Given the description of an element on the screen output the (x, y) to click on. 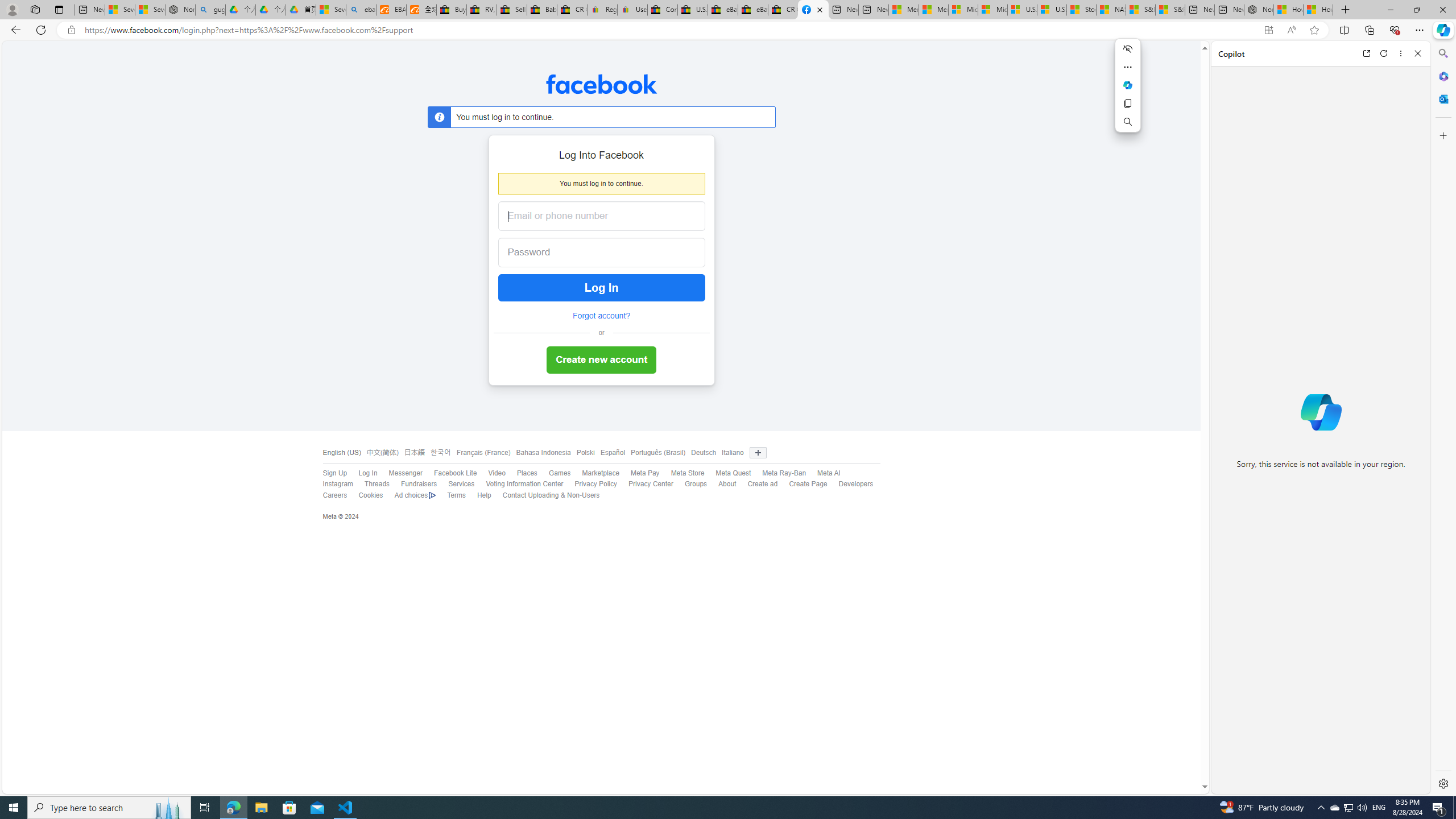
Ask Copilot (1127, 85)
eBay Inc. Reports Third Quarter 2023 Results (753, 9)
Careers (329, 495)
English (US) (341, 452)
Privacy Center (644, 484)
Copy (1127, 103)
Games (553, 473)
Privacy Policy (590, 484)
